Given the description of an element on the screen output the (x, y) to click on. 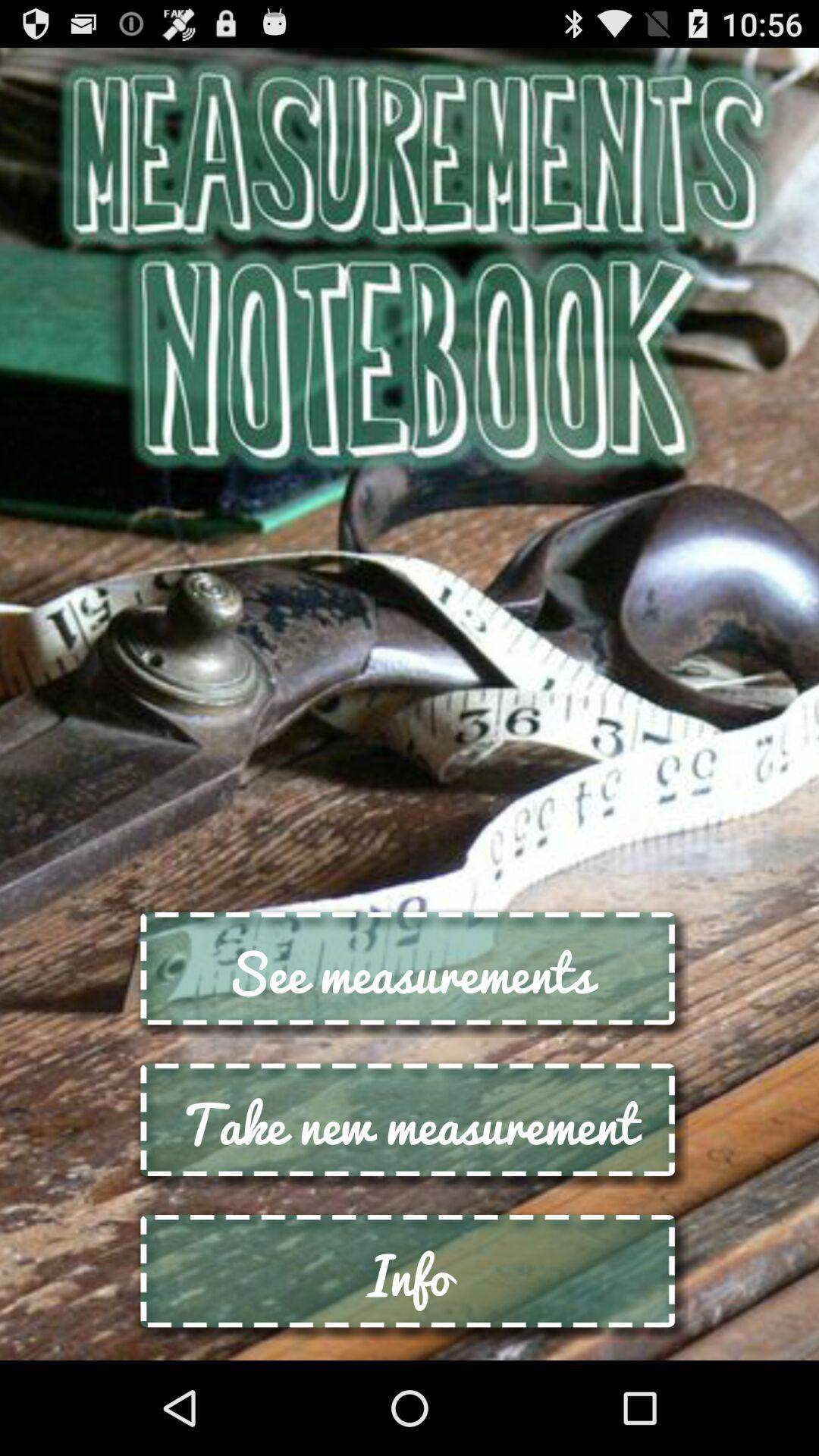
turn off the button above the take new measurement button (409, 971)
